Given the description of an element on the screen output the (x, y) to click on. 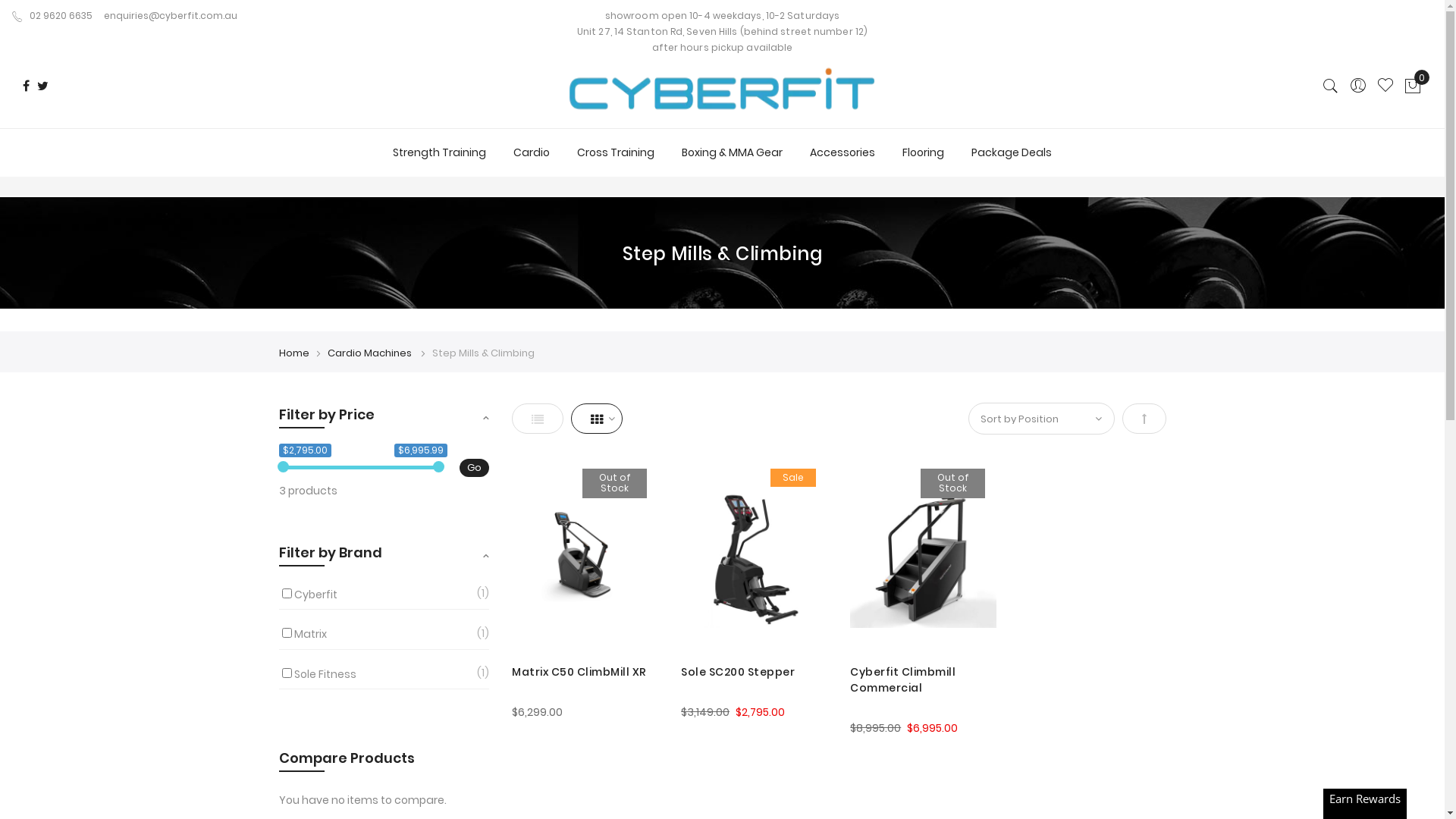
Sole SC200 Stepper Element type: text (753, 672)
List Element type: text (537, 418)
Cyberfit Gym Equipment Element type: hover (721, 94)
enquiries@cyberfit.com.au Element type: text (170, 15)
Cardio Element type: text (531, 152)
Home Element type: text (294, 352)
02 9620 6635 Element type: text (51, 15)
Cyberfit Climbmill Commercial Element type: text (923, 680)
Cardio Machines Element type: text (370, 352)
Accessories Element type: text (842, 152)
Flooring Element type: text (922, 152)
Matrix
1 Element type: text (310, 633)
Package Deals Element type: text (1011, 152)
Go Element type: text (474, 467)
My Cart
0 Element type: text (1412, 86)
Set Descending Direction Element type: text (1144, 418)
Cross Training Element type: text (615, 152)
Boxing & MMA Gear Element type: text (732, 152)
Sole Fitness
1 Element type: text (325, 673)
Matrix C50 ClimbMill XR Element type: text (584, 672)
Strength Training Element type: text (439, 152)
Cyberfit
1 Element type: text (315, 594)
